Given the description of an element on the screen output the (x, y) to click on. 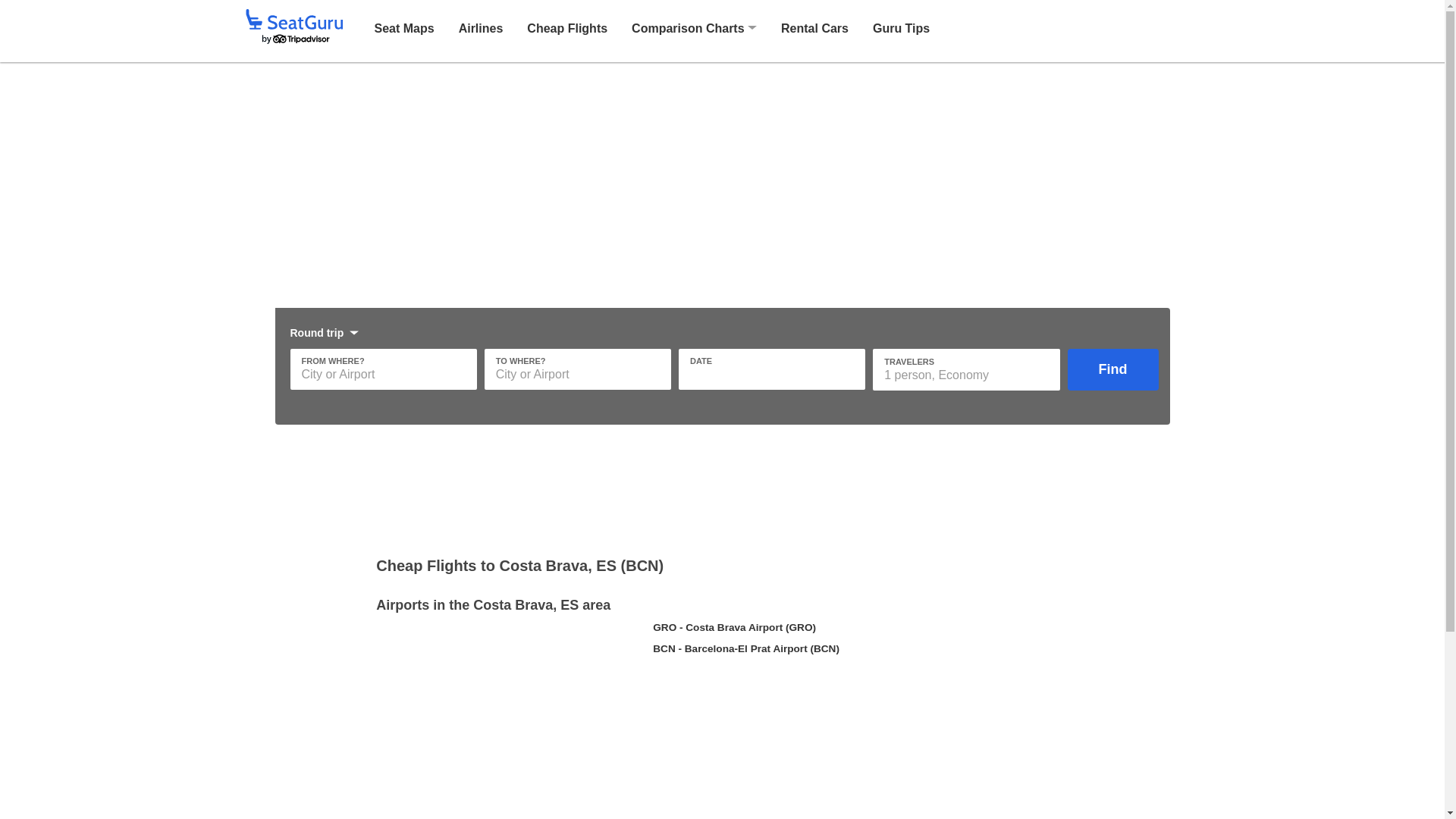
Guru Tips (901, 27)
Rental Cars (814, 27)
Seat Maps (403, 27)
Airlines (480, 27)
Cheap Flights (567, 27)
Find (1112, 369)
Comparison Charts (687, 28)
